Given the description of an element on the screen output the (x, y) to click on. 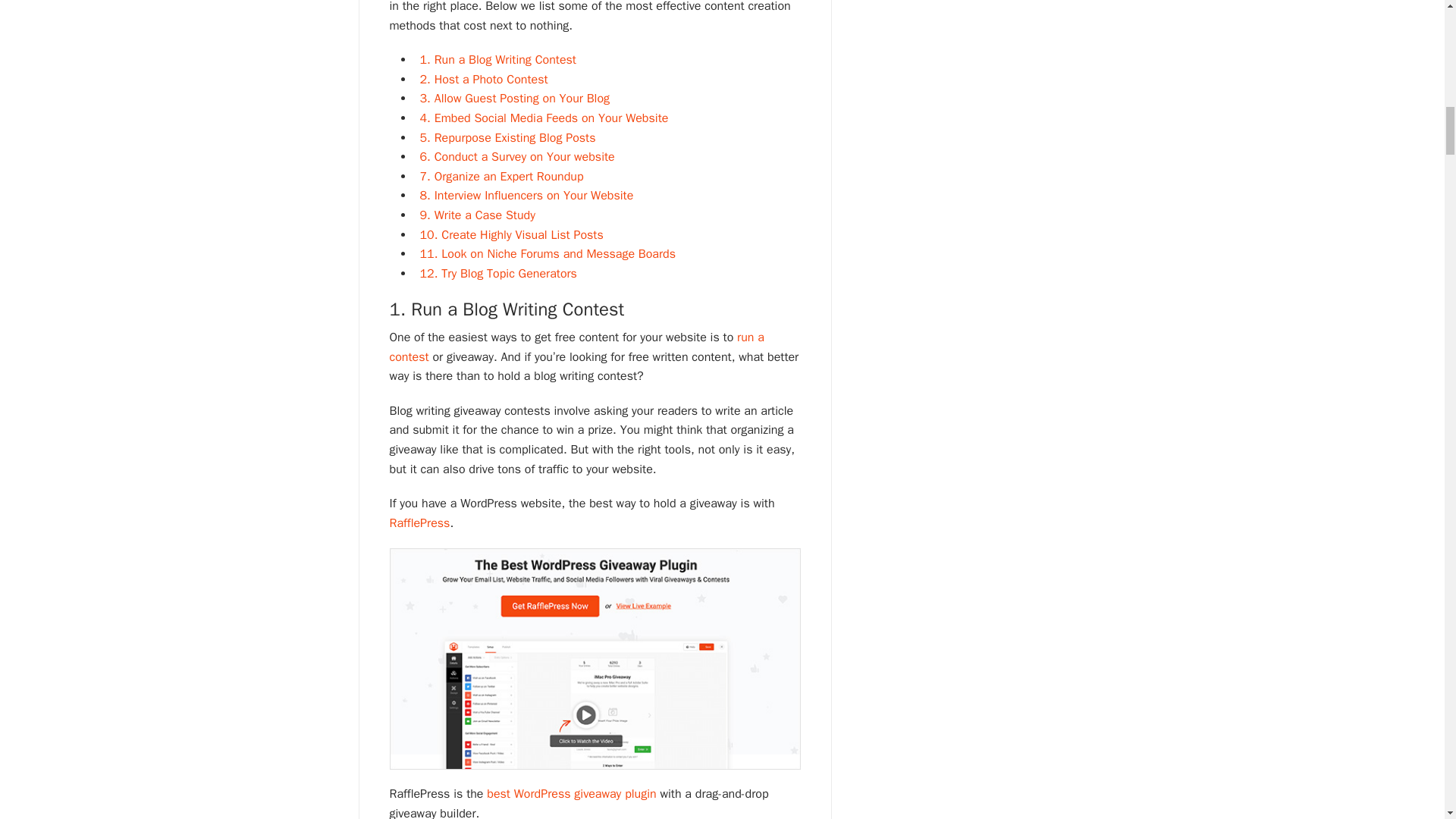
9. Write a Case Study (477, 215)
12. Try Blog Topic Generators (498, 273)
10. Create Highly Visual List Posts (512, 234)
4. Embed Social Media Feeds on Your Website (544, 118)
8. Interview Influencers on Your Website (526, 195)
2. Host a Photo Contest (484, 79)
run a contest (577, 347)
6. Conduct a Survey on Your website (517, 156)
best WordPress giveaway plugin (571, 793)
1. Run a Blog Writing Contest (498, 59)
